Given the description of an element on the screen output the (x, y) to click on. 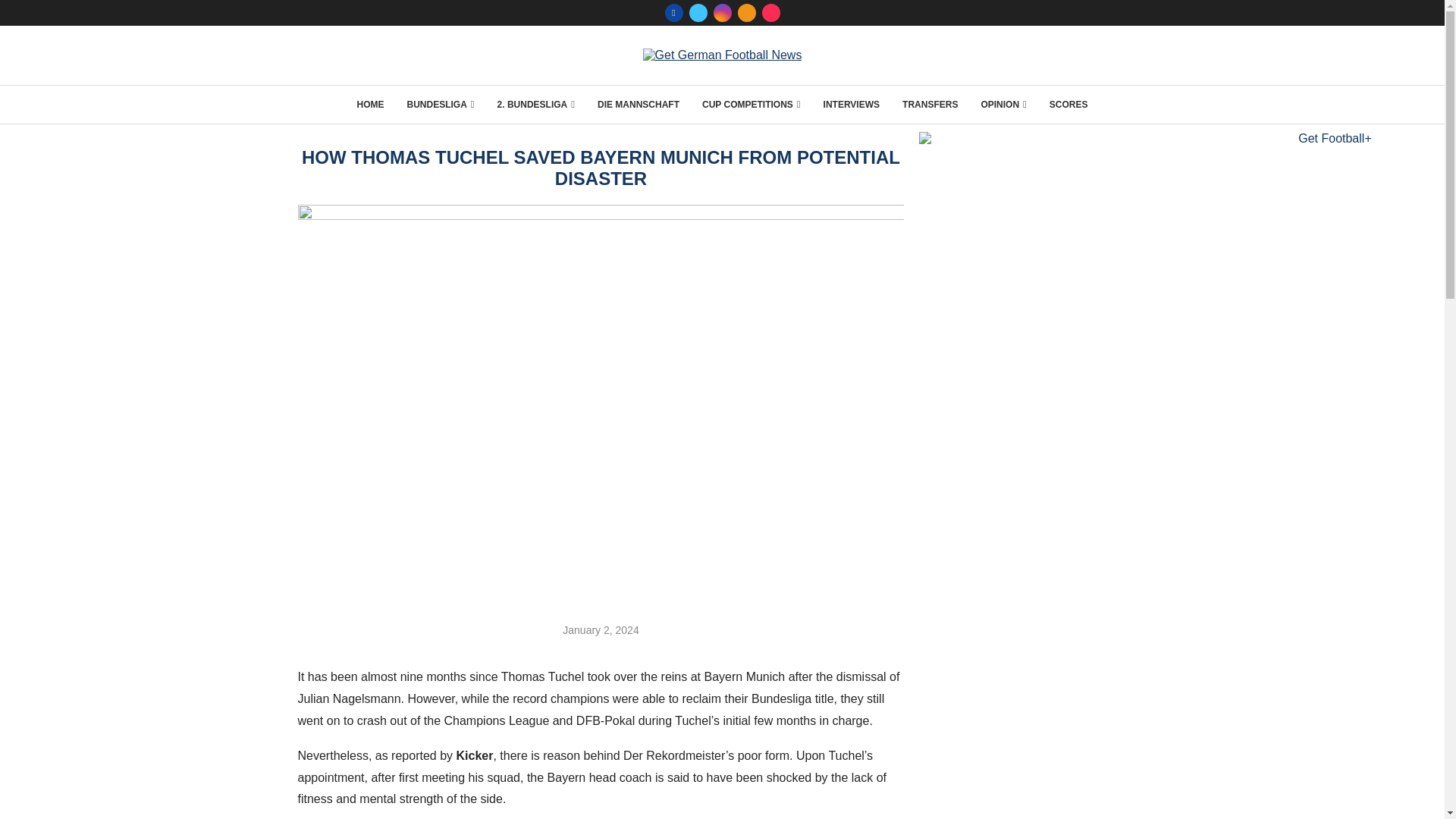
BUNDESLIGA (440, 104)
HOME (370, 104)
2. BUNDESLIGA (536, 104)
